Given the description of an element on the screen output the (x, y) to click on. 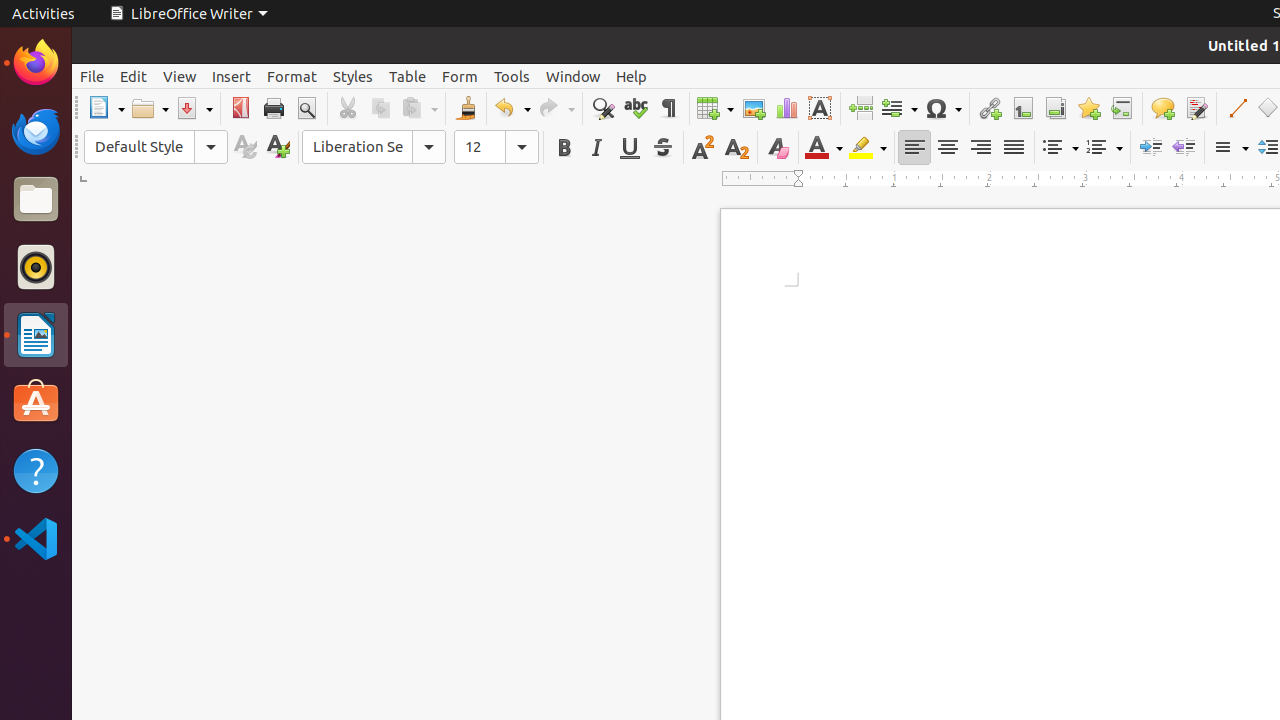
Bullets Element type: push-button (1060, 147)
New Element type: push-button (277, 147)
Tools Element type: menu (512, 76)
Table Element type: menu (407, 76)
Files Element type: push-button (36, 199)
